Given the description of an element on the screen output the (x, y) to click on. 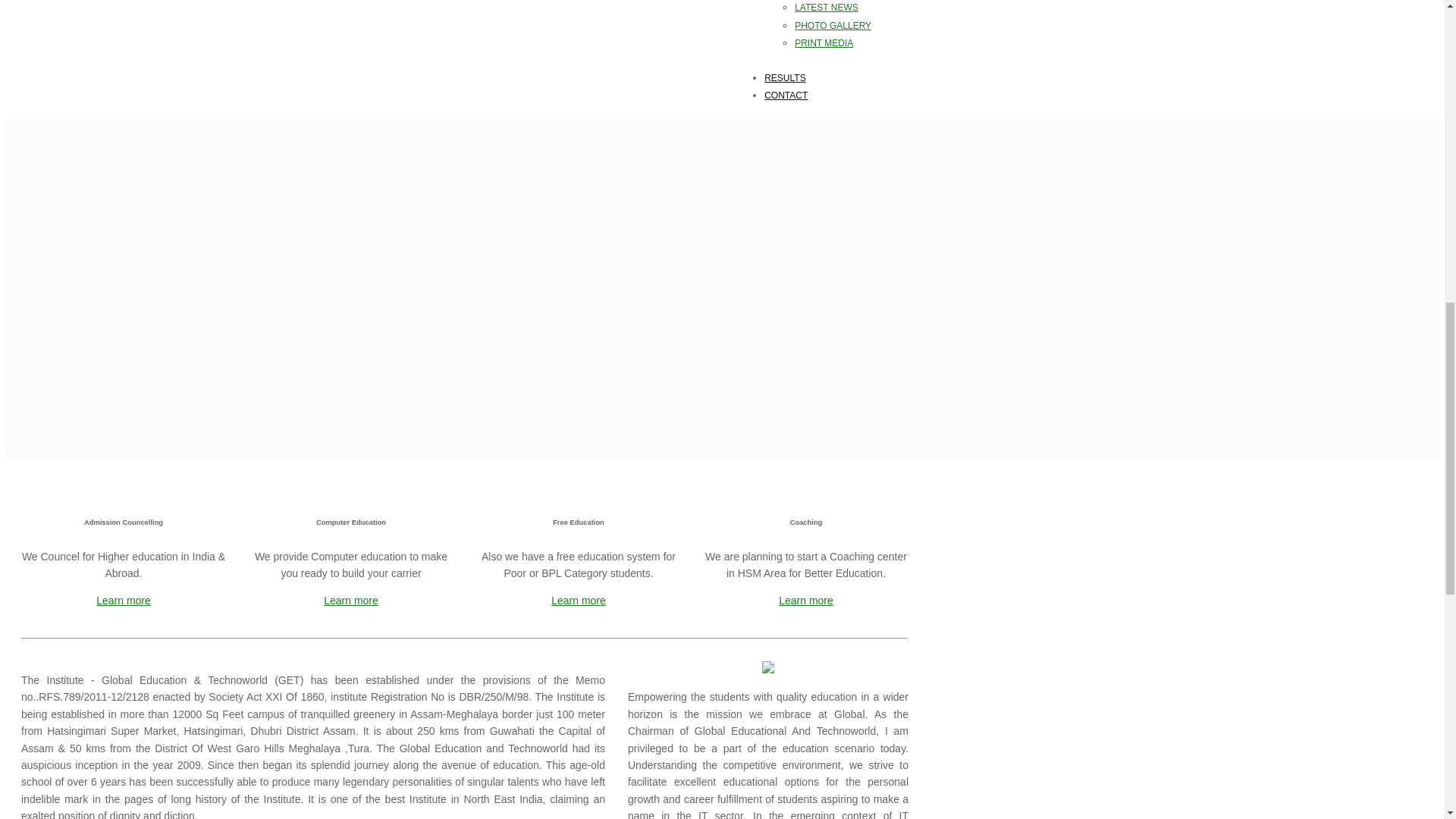
FOUNDER'S DESK (673, 653)
PHOTO GALLERY (851, 24)
LATEST NEWS (851, 7)
CONTACT (786, 95)
Learn more (805, 600)
Learn more (350, 600)
RESULTS (784, 77)
Learn more (123, 600)
PRINT MEDIA (851, 43)
Learn more (578, 600)
